Given the description of an element on the screen output the (x, y) to click on. 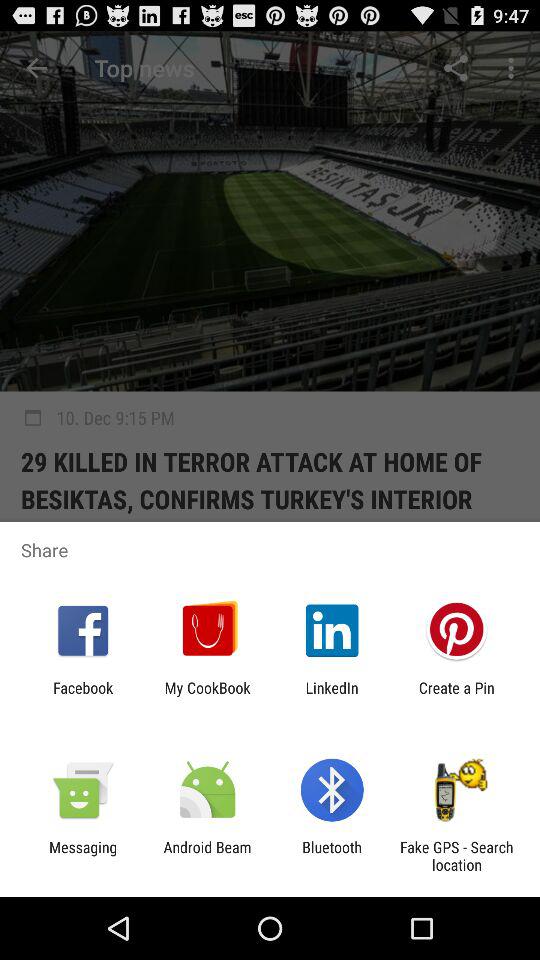
tap app next to the android beam (331, 856)
